Given the description of an element on the screen output the (x, y) to click on. 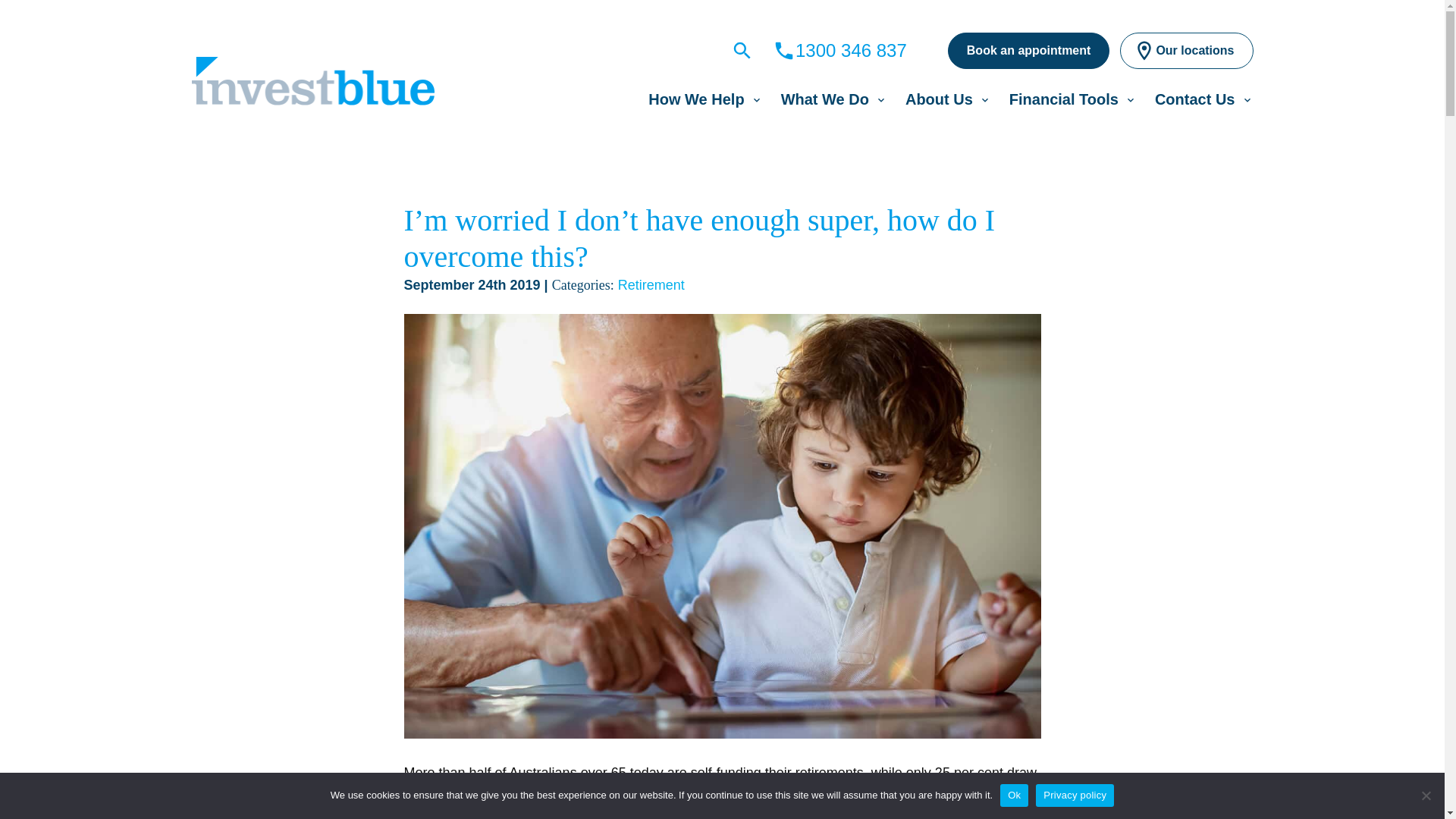
1300 346 837 (840, 50)
No (1425, 795)
What We Do (824, 98)
Financial Tools (1063, 98)
How We Help (695, 98)
Contact Us (1194, 98)
Book an appointment (1028, 50)
About Us (938, 98)
Our locations (1185, 50)
